Given the description of an element on the screen output the (x, y) to click on. 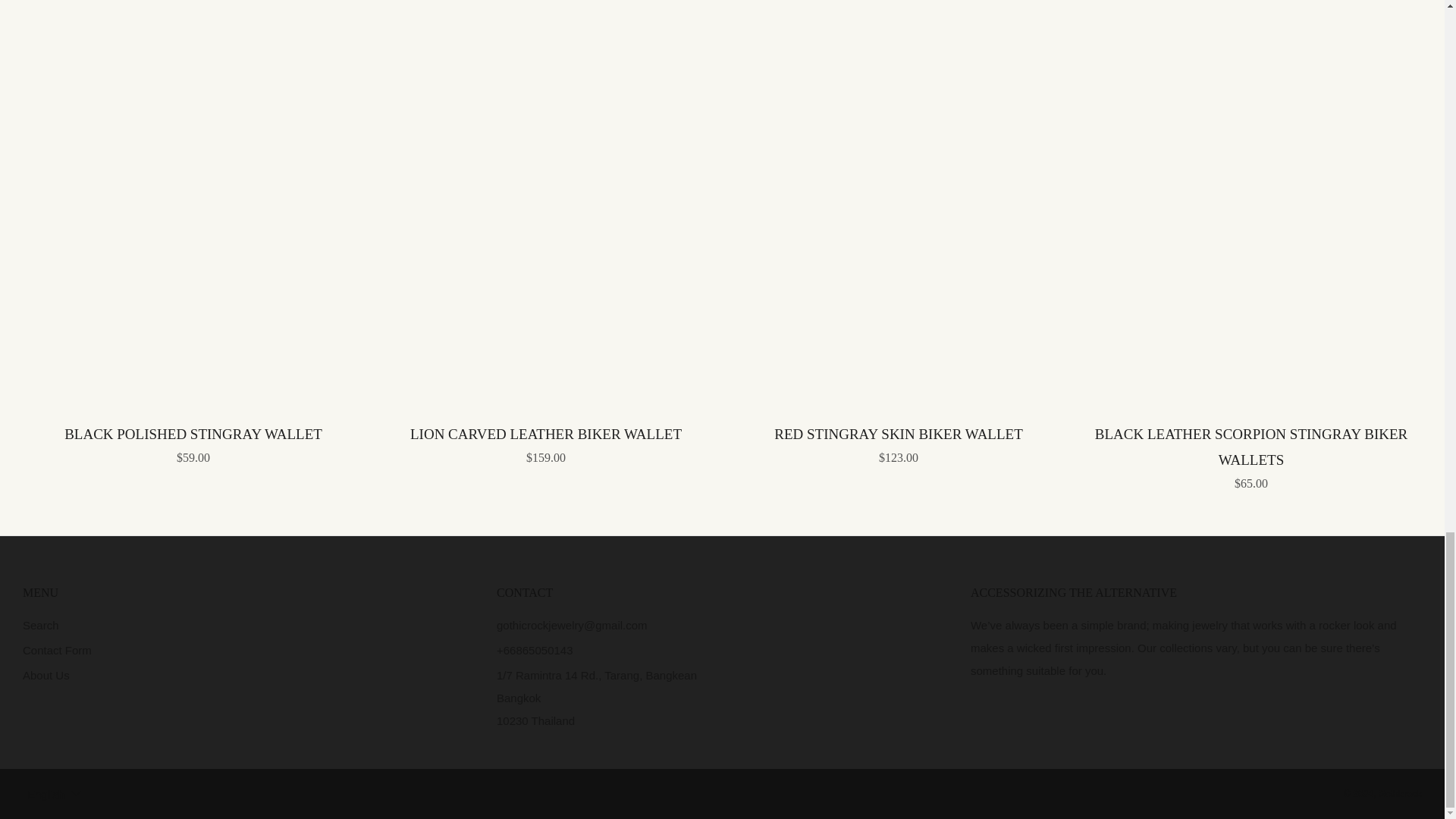
Lion Carved Leather Biker Wallet (545, 442)
Black Leather Scorpion Stingray Biker Wallets (1251, 455)
Red Stingray Skin Biker Wallet (898, 442)
Black Polished Stingray Wallet (193, 442)
